Given the description of an element on the screen output the (x, y) to click on. 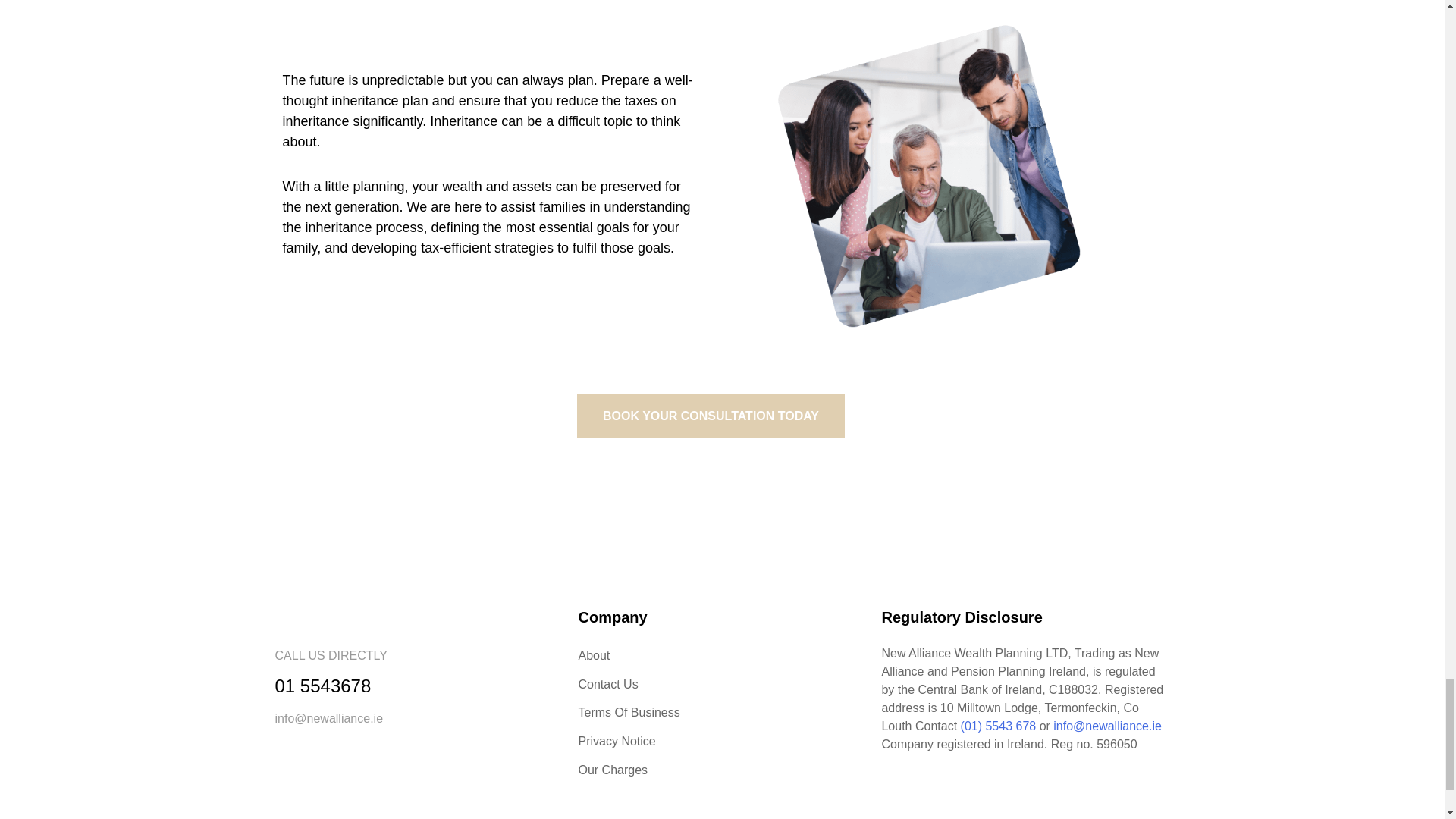
BOOK YOUR CONSULTATION TODAY (710, 415)
Contact Us (722, 684)
01 5543678 (323, 685)
About (722, 655)
